Given the description of an element on the screen output the (x, y) to click on. 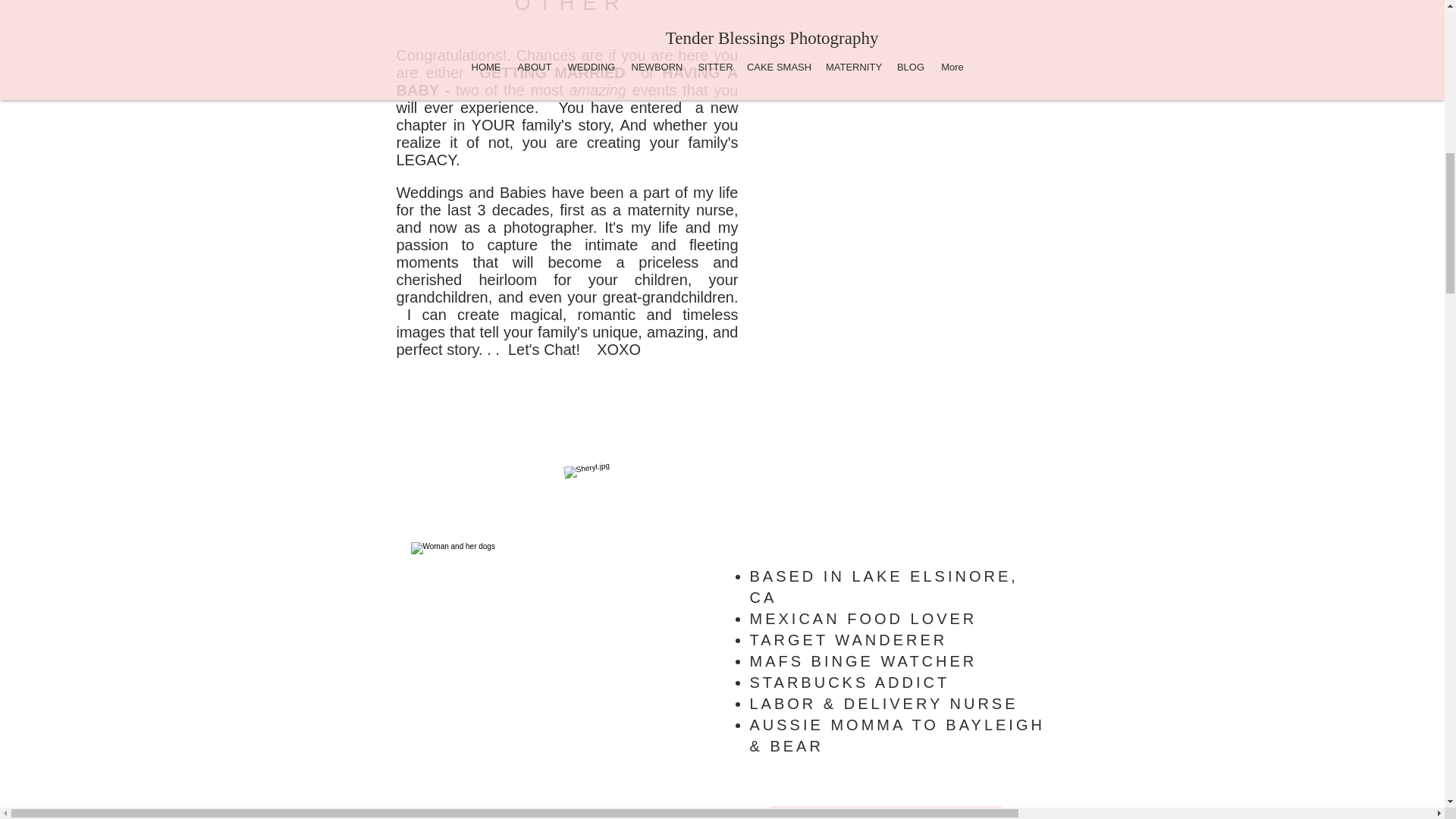
LEARN MORE ABOUT SHERYL (885, 812)
